Given the description of an element on the screen output the (x, y) to click on. 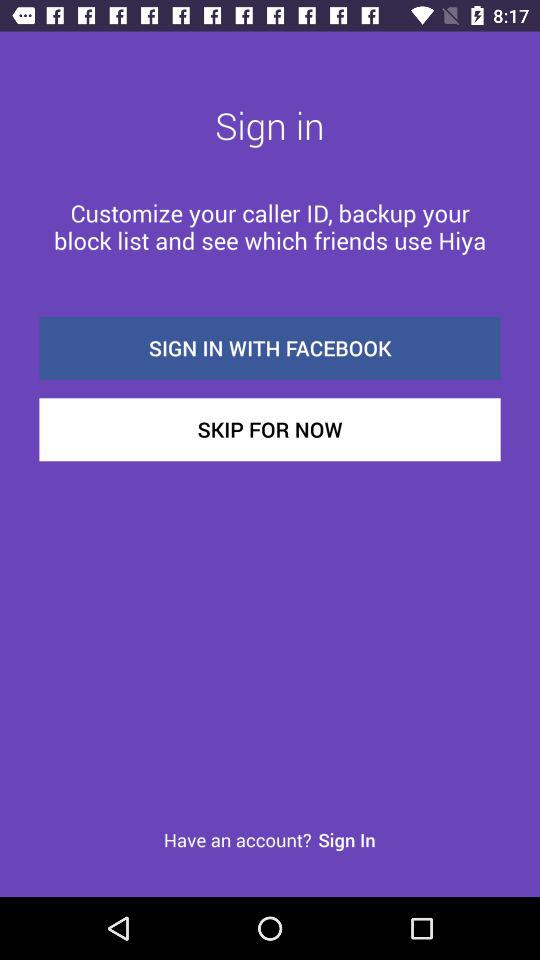
flip until the skip for now (269, 429)
